Given the description of an element on the screen output the (x, y) to click on. 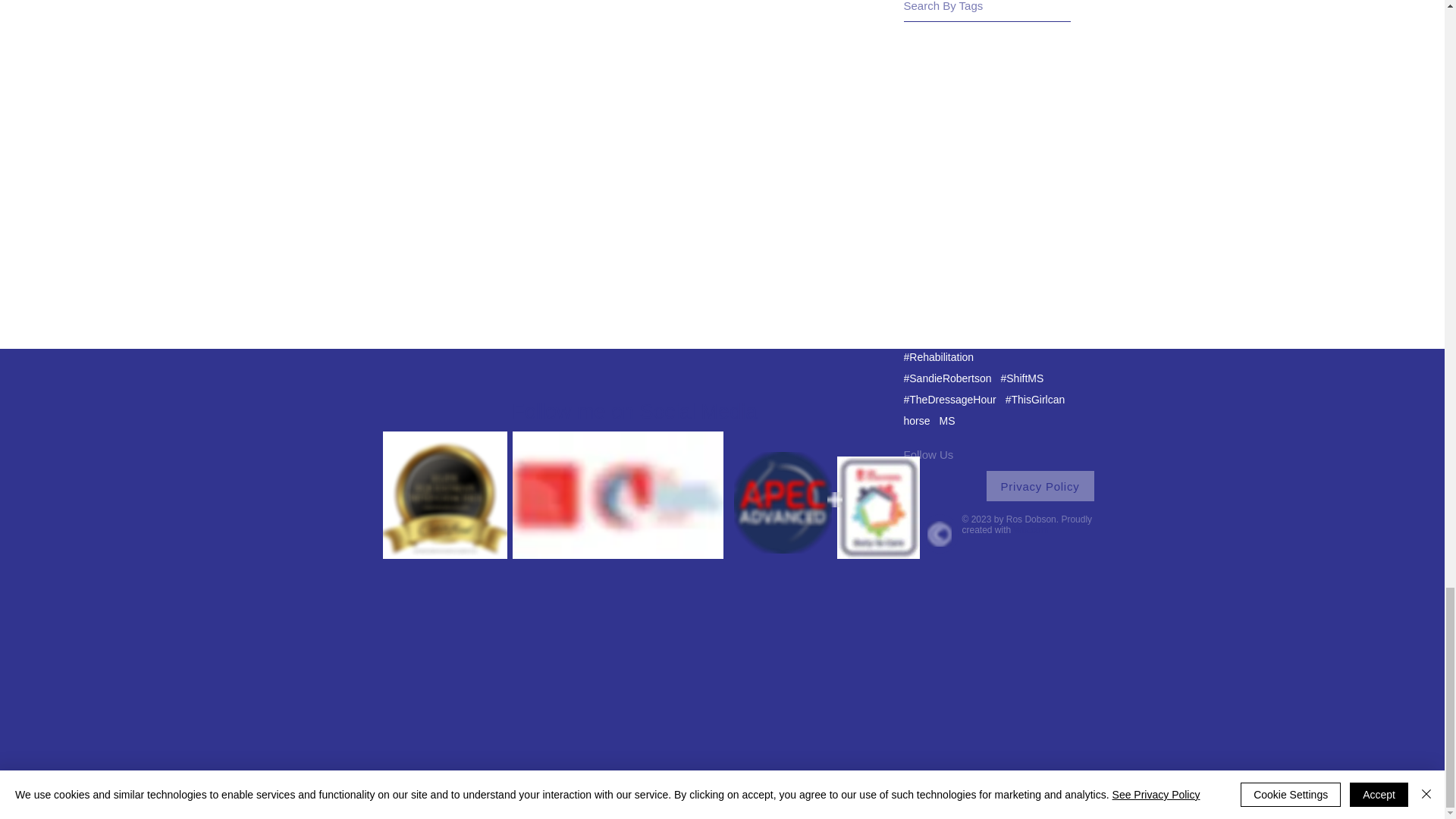
Accredited Professional Coach with the British Horse Society (617, 494)
Copy of EEC Badge Gold.png (443, 494)
Proud to be a Centre 10 Advanced Coach (782, 502)
